Given the description of an element on the screen output the (x, y) to click on. 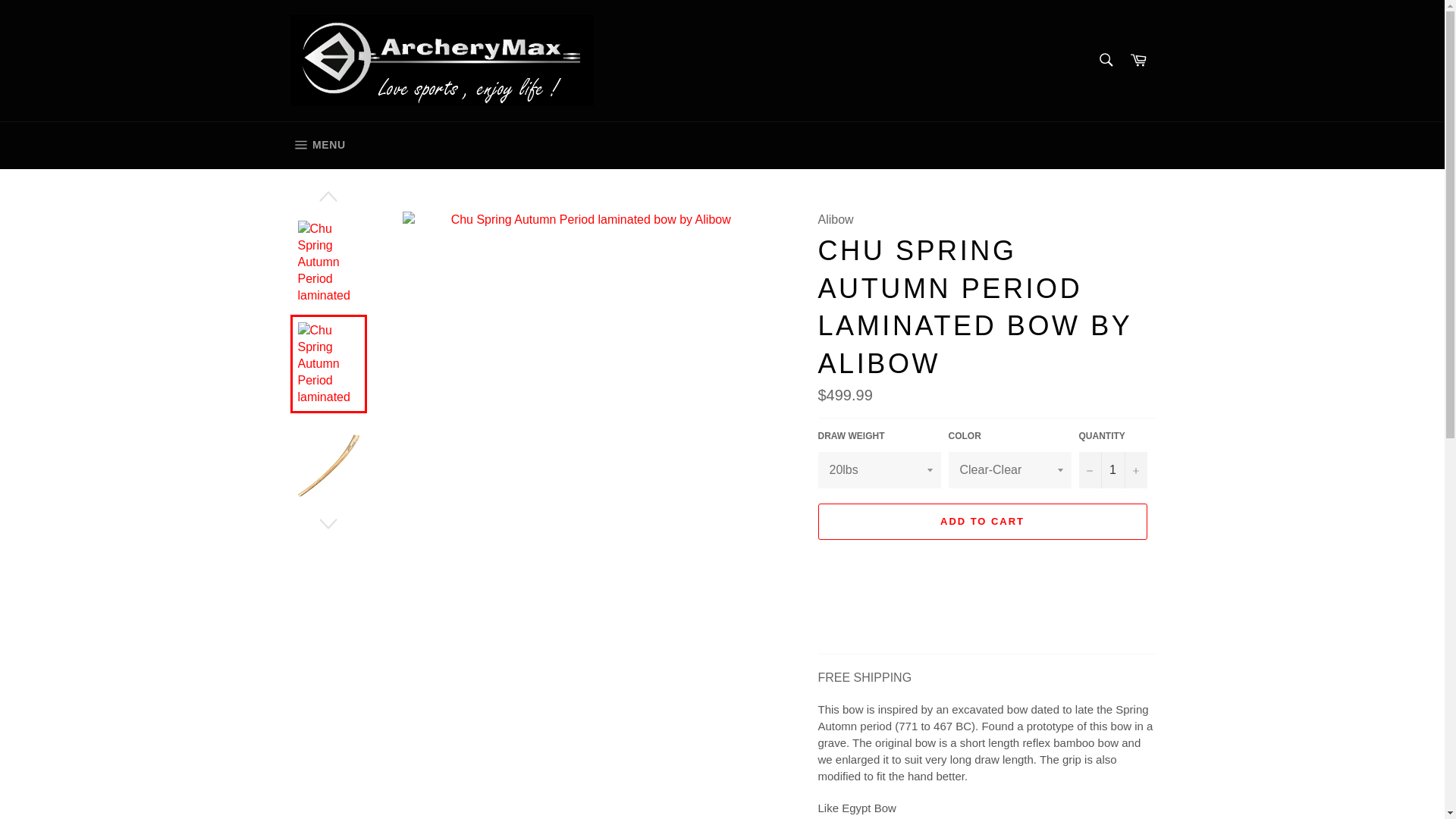
Search (317, 145)
1 (1104, 60)
Cart (1112, 470)
